Given the description of an element on the screen output the (x, y) to click on. 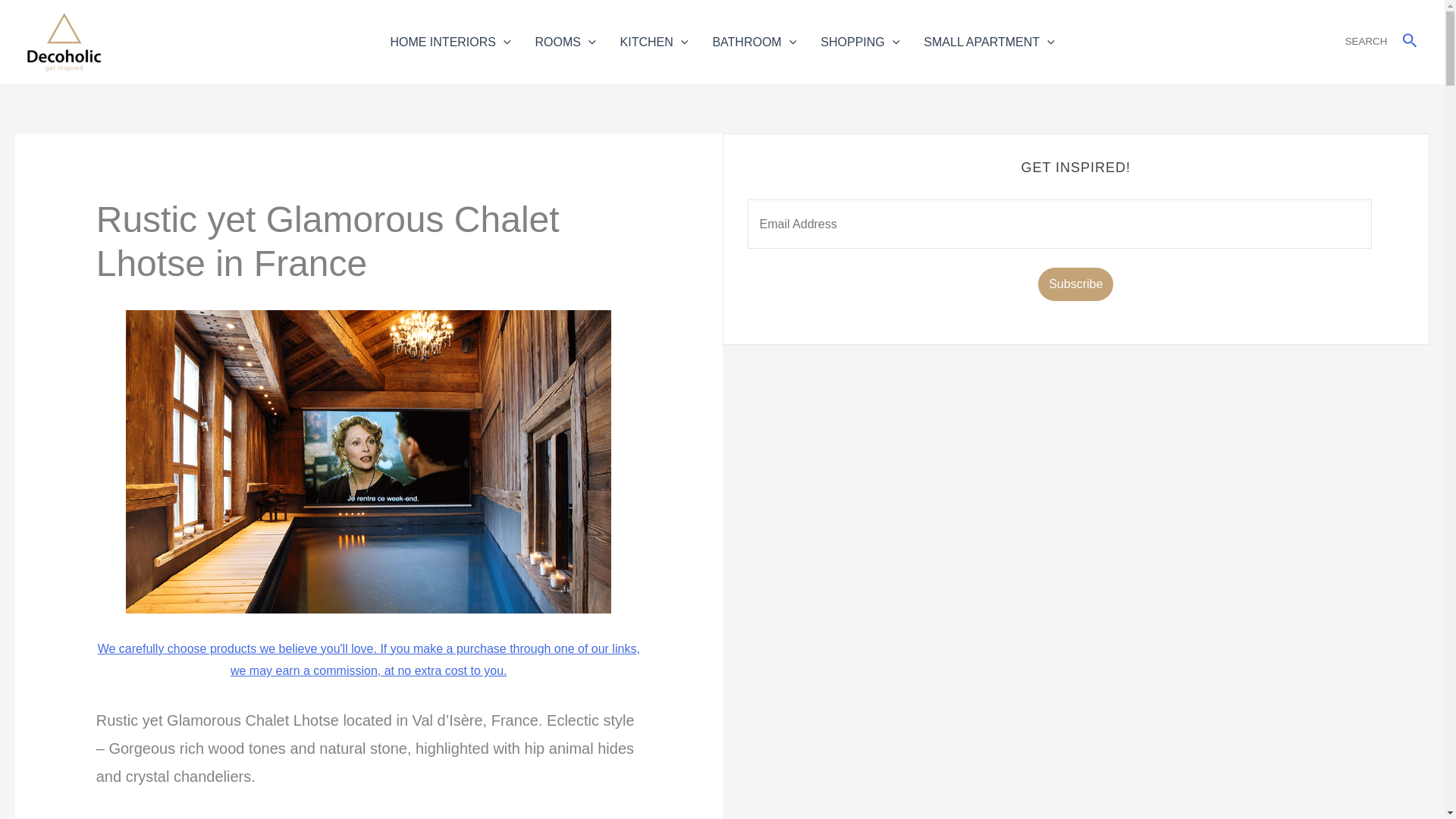
SMALL APARTMENT (988, 41)
HOME INTERIORS (449, 41)
ROOMS (565, 41)
SHOPPING (859, 41)
KITCHEN (654, 41)
BATHROOM (754, 41)
